Given the description of an element on the screen output the (x, y) to click on. 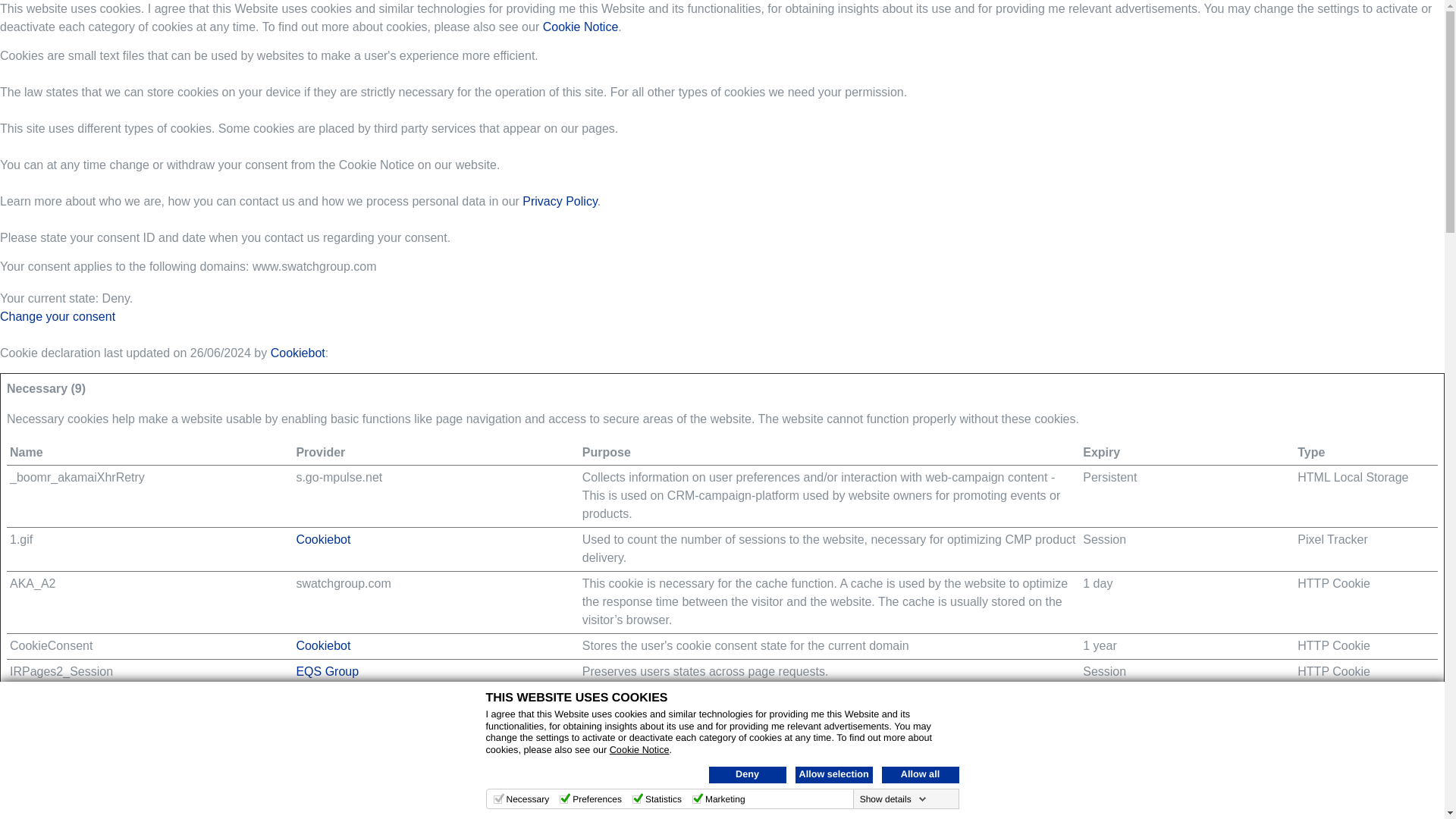
CornerStone's privacy policy (330, 774)
EQS Group's privacy policy (326, 671)
EQS Group (326, 671)
Allow selection (833, 774)
Cookiebot (297, 352)
Cookiebot (322, 645)
CornerStone (330, 722)
Change your consent (57, 316)
Cookiebot's privacy policy (322, 645)
Cookie Notice (639, 749)
CornerStone (330, 774)
Cookiebot's privacy policy (322, 539)
Privacy Policy (559, 201)
